Given the description of an element on the screen output the (x, y) to click on. 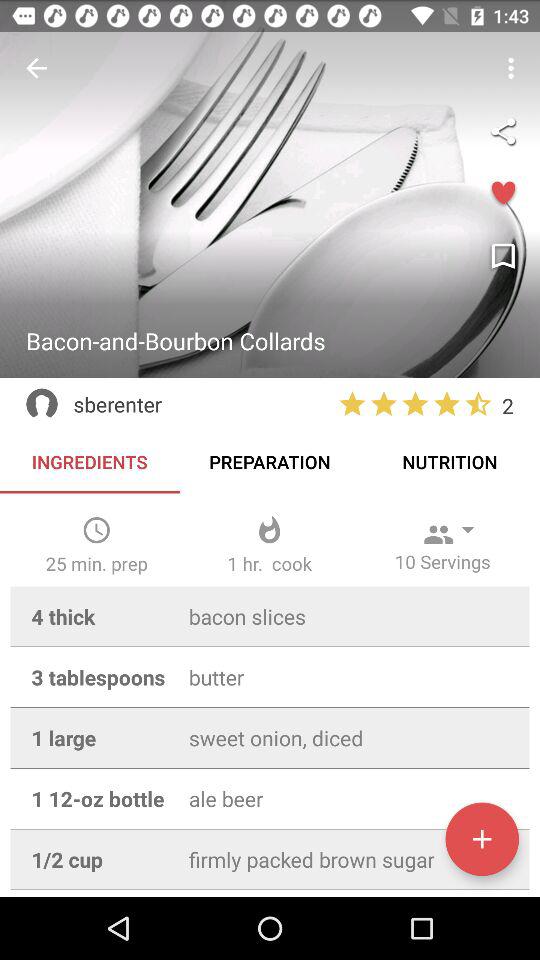
click the save option (503, 257)
